Given the description of an element on the screen output the (x, y) to click on. 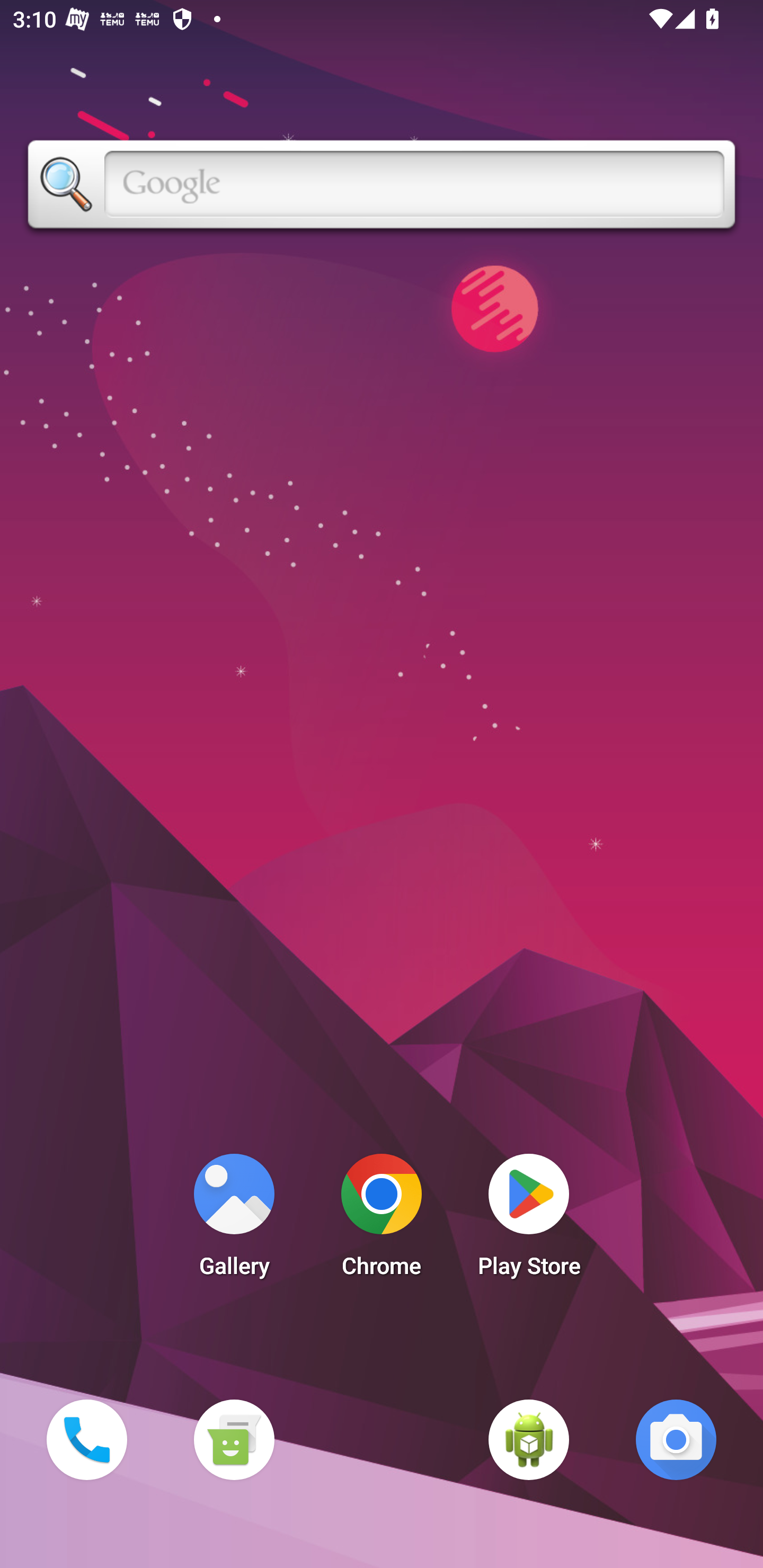
Gallery (233, 1220)
Chrome (381, 1220)
Play Store (528, 1220)
Phone (86, 1439)
Messaging (233, 1439)
WebView Browser Tester (528, 1439)
Camera (676, 1439)
